Given the description of an element on the screen output the (x, y) to click on. 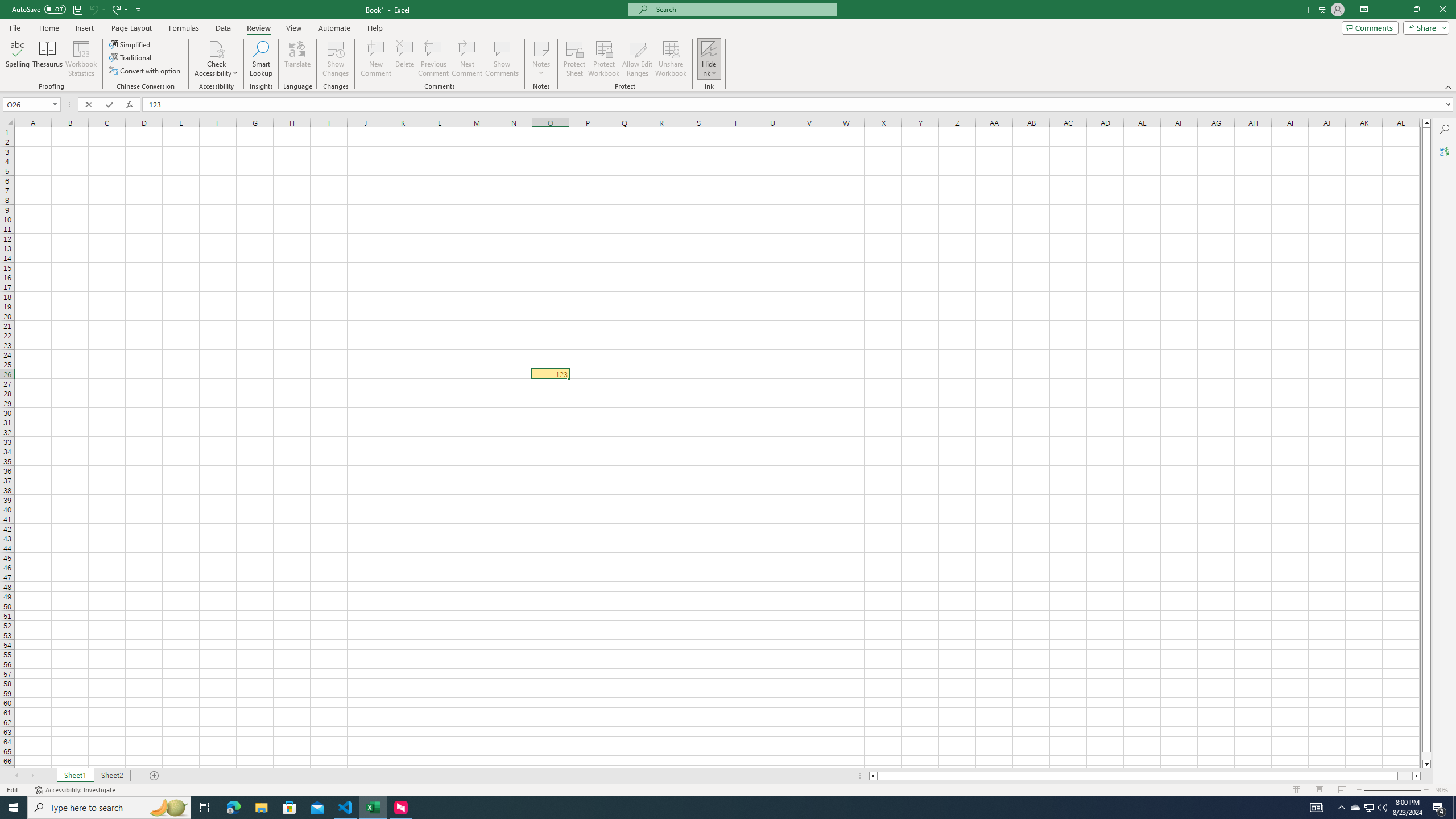
Zoom (1392, 790)
Line down (1426, 764)
Close (1442, 9)
Review (258, 28)
Edit Cell (549, 373)
New Comment (376, 58)
Check Accessibility (215, 58)
Formulas (184, 28)
Column left (872, 775)
Open (54, 104)
Unshare Workbook (670, 58)
Minimize (1390, 9)
Ribbon Display Options (1364, 9)
Zoom In (1426, 790)
